Given the description of an element on the screen output the (x, y) to click on. 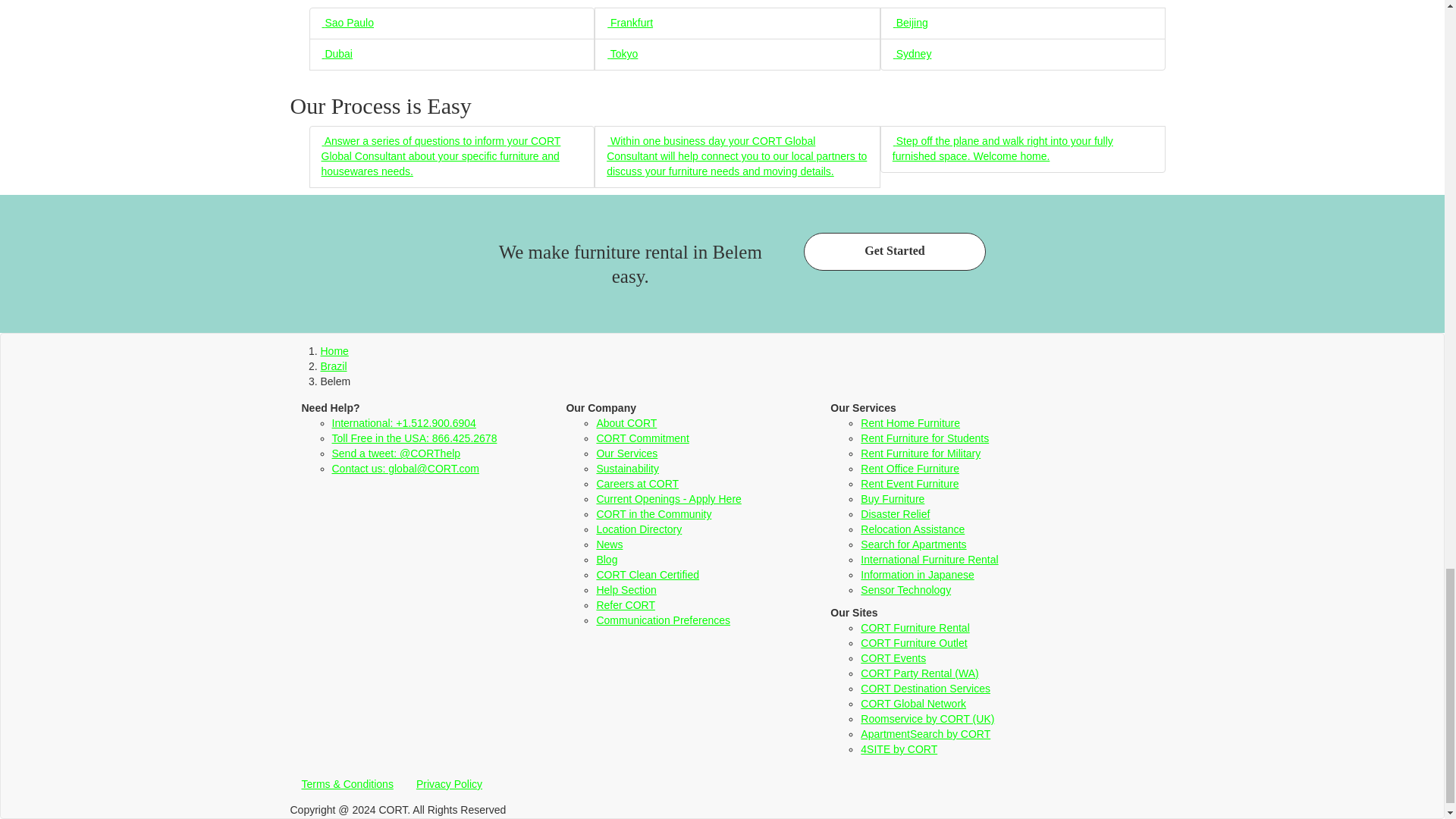
Tokyo (622, 53)
Home (333, 350)
Frankfurt (629, 22)
Beijing (910, 22)
Dubai (336, 53)
Sao Paulo (347, 22)
Brazil (333, 366)
Get Started (894, 251)
Sydney (911, 53)
